Given the description of an element on the screen output the (x, y) to click on. 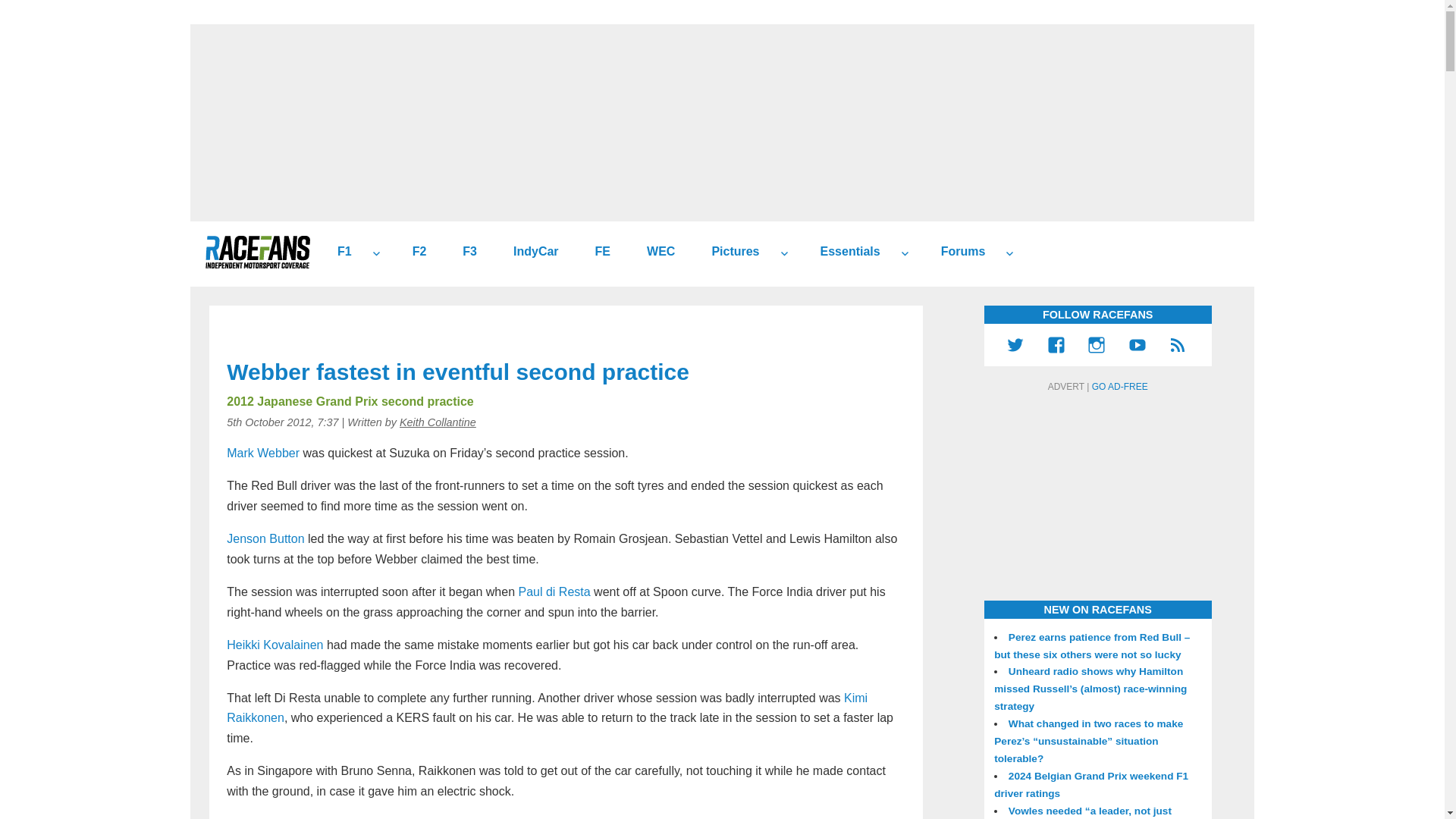
expand child menu (783, 253)
F3 (463, 251)
World Endurance Championship (655, 251)
IndyCar (529, 251)
FE (596, 251)
WEC (655, 251)
Formula 2 (413, 251)
Formula E (596, 251)
expand child menu (376, 253)
Essentials (844, 251)
Formula 1 (338, 251)
IndyCar (529, 251)
expand child menu (904, 253)
F2 (413, 251)
F1 (338, 251)
